Given the description of an element on the screen output the (x, y) to click on. 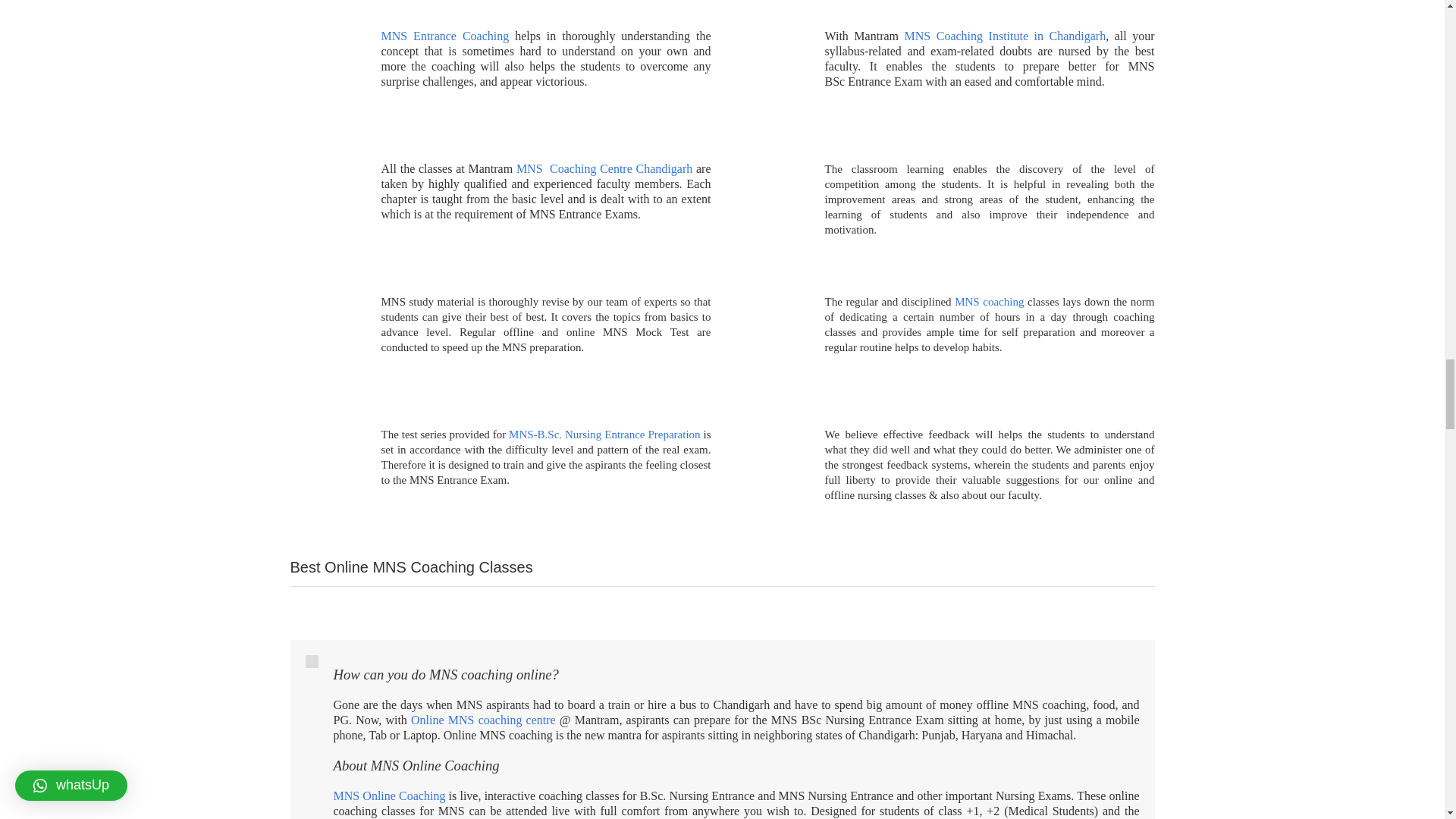
MNS  Coaching Centre Chandigarh (604, 168)
MNS coaching (989, 301)
MNS Entrance Coaching (444, 35)
MNS Coaching Institute in Chandigarh (1005, 35)
MNS-B.Sc. Nursing Entrance Preparation (604, 434)
